Given the description of an element on the screen output the (x, y) to click on. 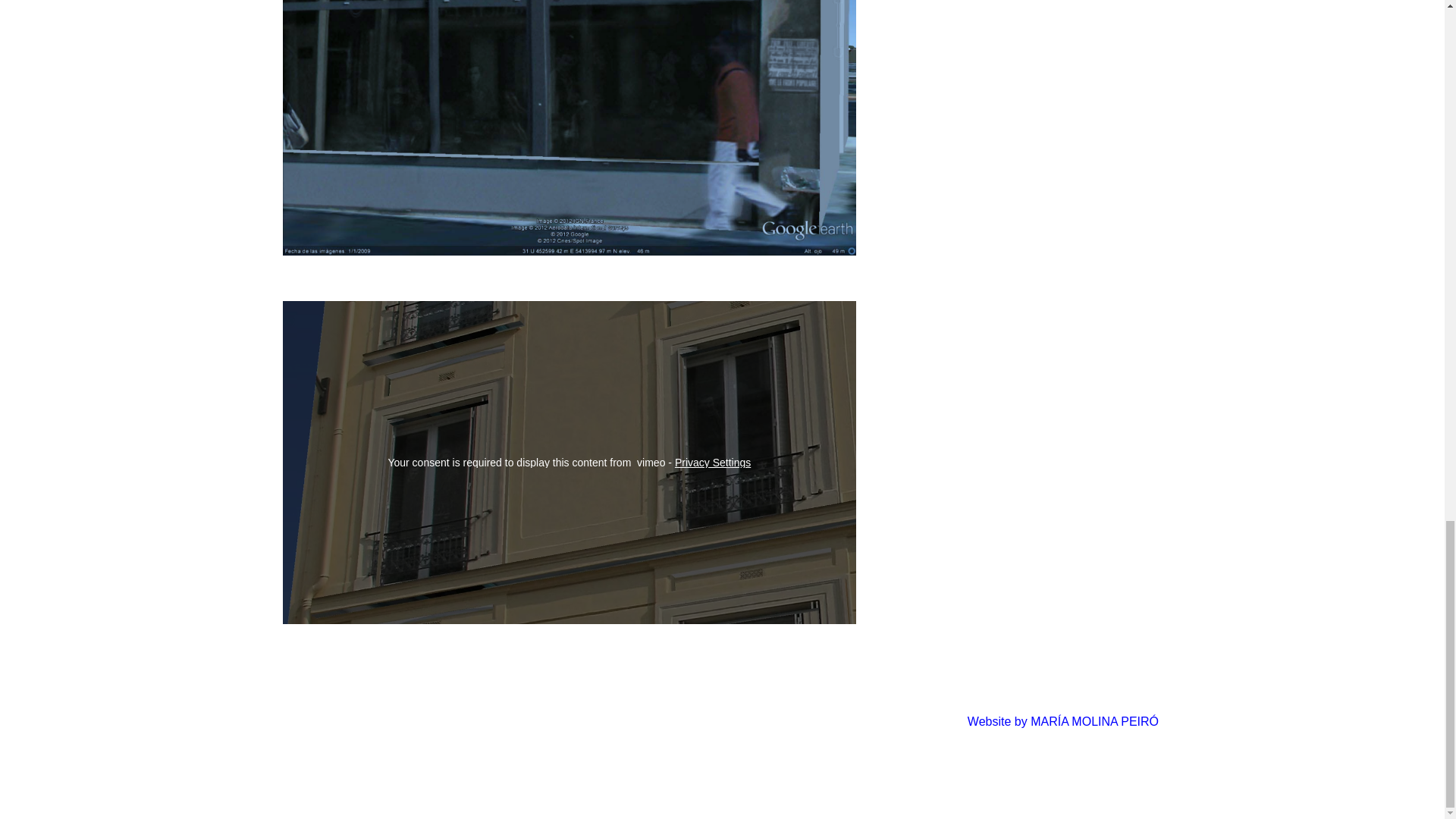
Privacy Settings (713, 462)
